Given the description of an element on the screen output the (x, y) to click on. 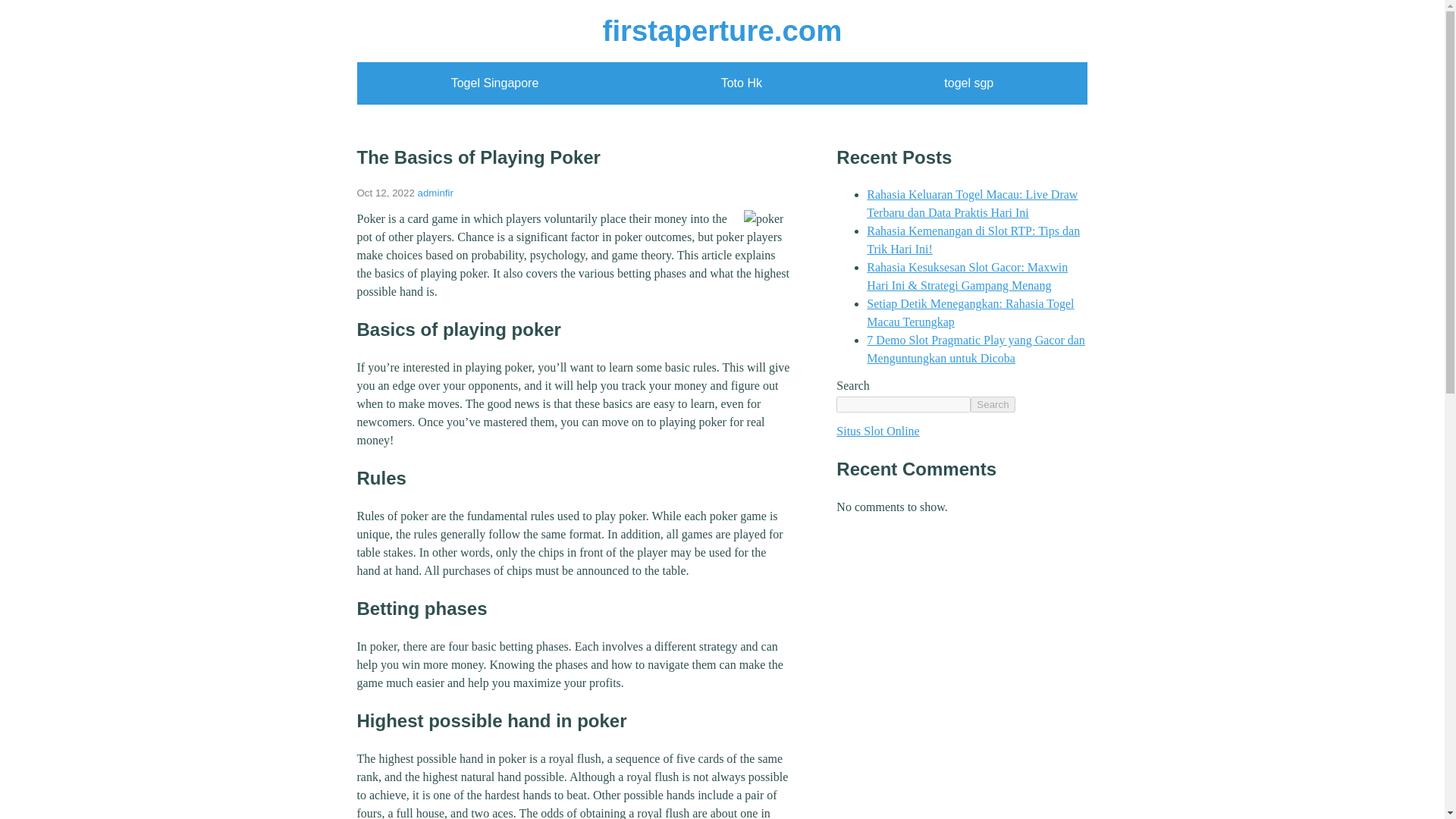
Toto Hk (740, 82)
adminfir (434, 193)
Togel Singapore (494, 82)
Rahasia Kemenangan di Slot RTP: Tips dan Trik Hari Ini! (973, 239)
togel sgp (967, 82)
firstaperture.com (722, 30)
Setiap Detik Menegangkan: Rahasia Togel Macau Terungkap (970, 312)
Search (992, 404)
Situs Slot Online (876, 431)
